Given the description of an element on the screen output the (x, y) to click on. 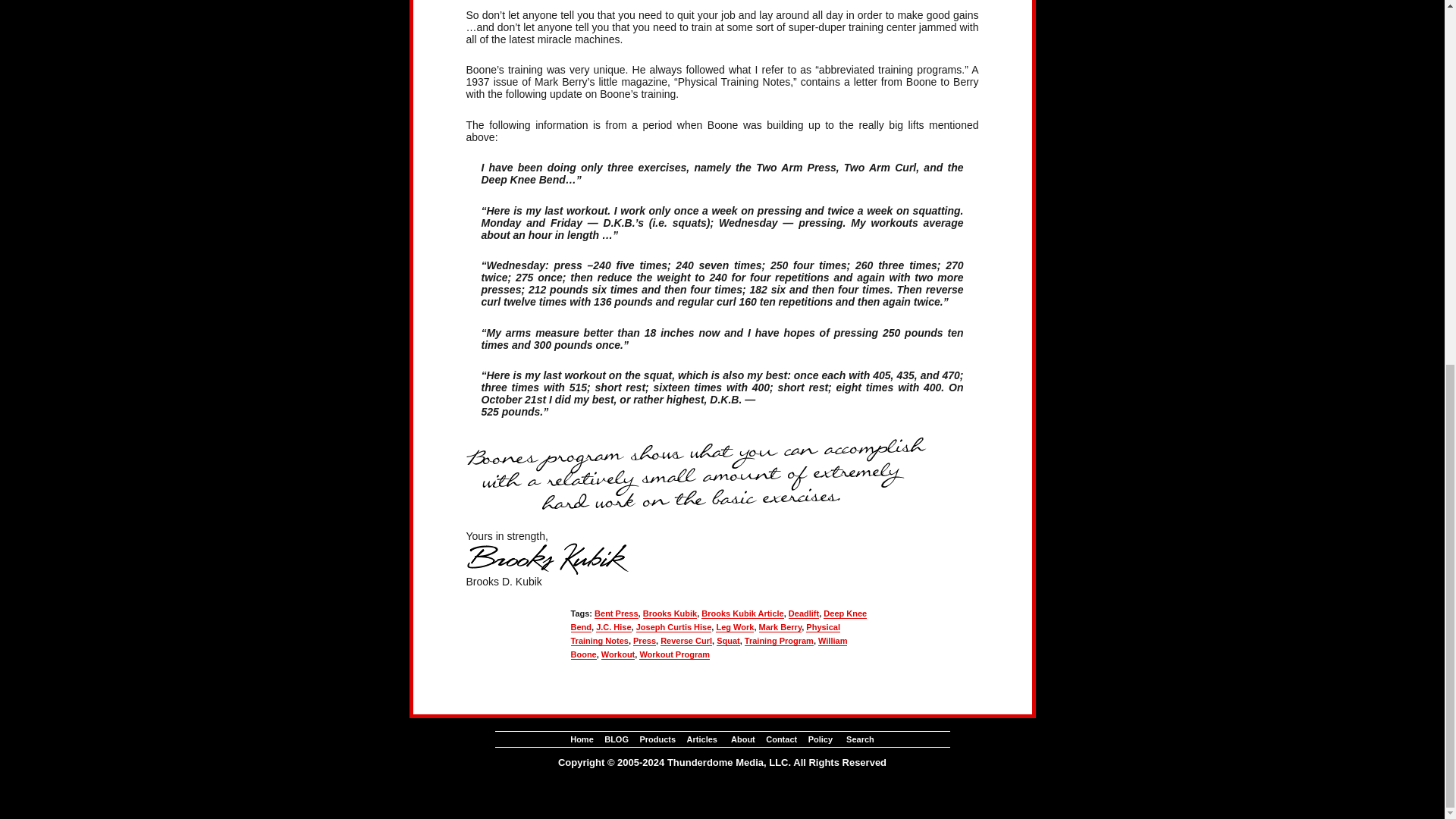
Mark Berry (780, 626)
Bent Press (615, 613)
Contact (780, 738)
Squat (727, 640)
Leg Work (735, 626)
Deep Knee Bend (718, 620)
Search (860, 738)
J.C. Hise (612, 626)
Deadlift (803, 613)
Products (657, 738)
Brooks Kubik Article (742, 613)
Reverse Curl (686, 640)
Workout Program (674, 654)
Physical Training Notes (705, 633)
Joseph Curtis Hise (673, 626)
